Given the description of an element on the screen output the (x, y) to click on. 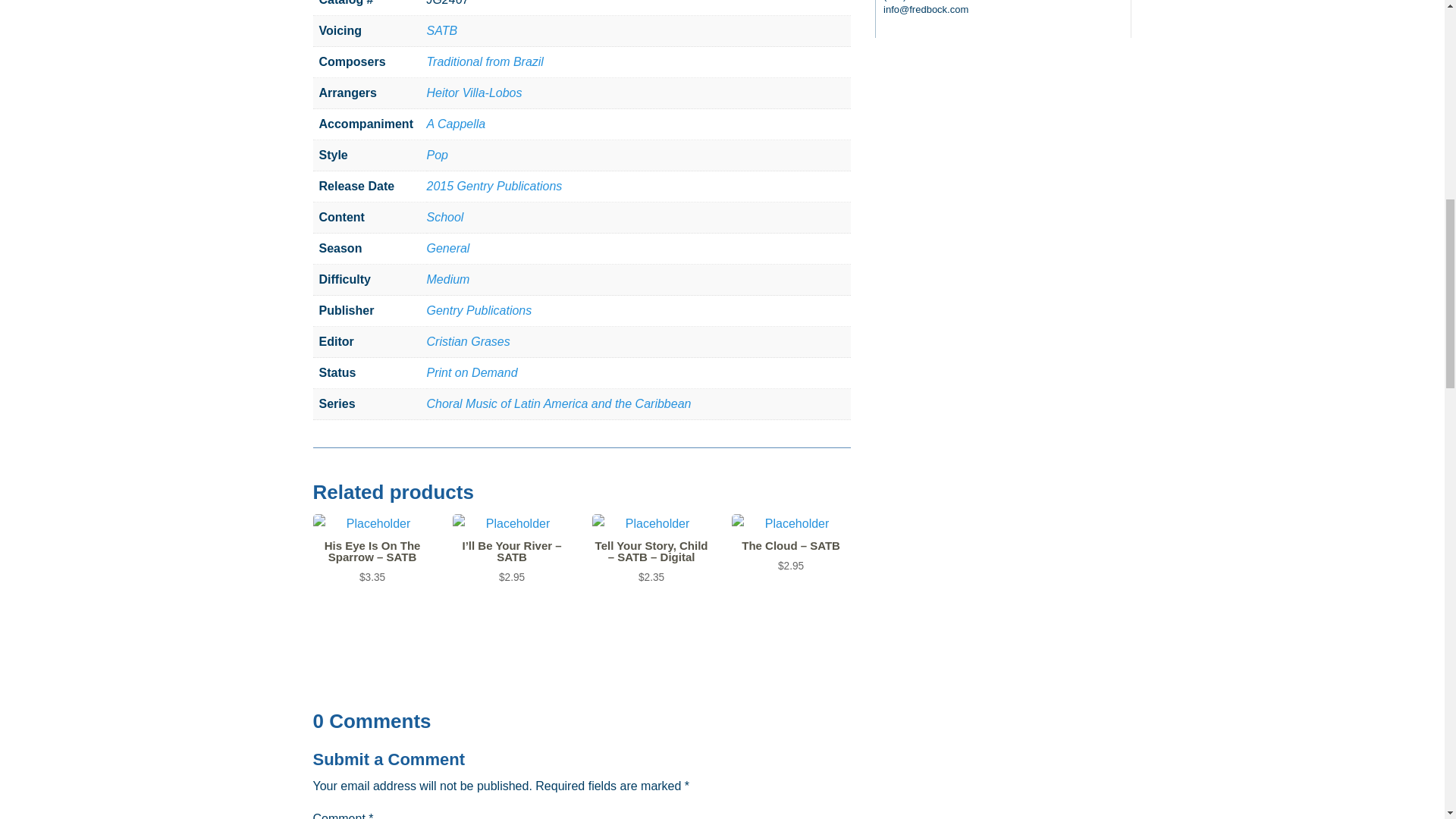
Medium (447, 278)
Cristian Grases (467, 341)
SATB (441, 30)
General (447, 247)
A Cappella (455, 123)
Choral Music of Latin America and the Caribbean (558, 403)
Pop (436, 154)
Traditional from Brazil (484, 61)
Print on Demand (471, 372)
Gentry Publications (478, 309)
